Given the description of an element on the screen output the (x, y) to click on. 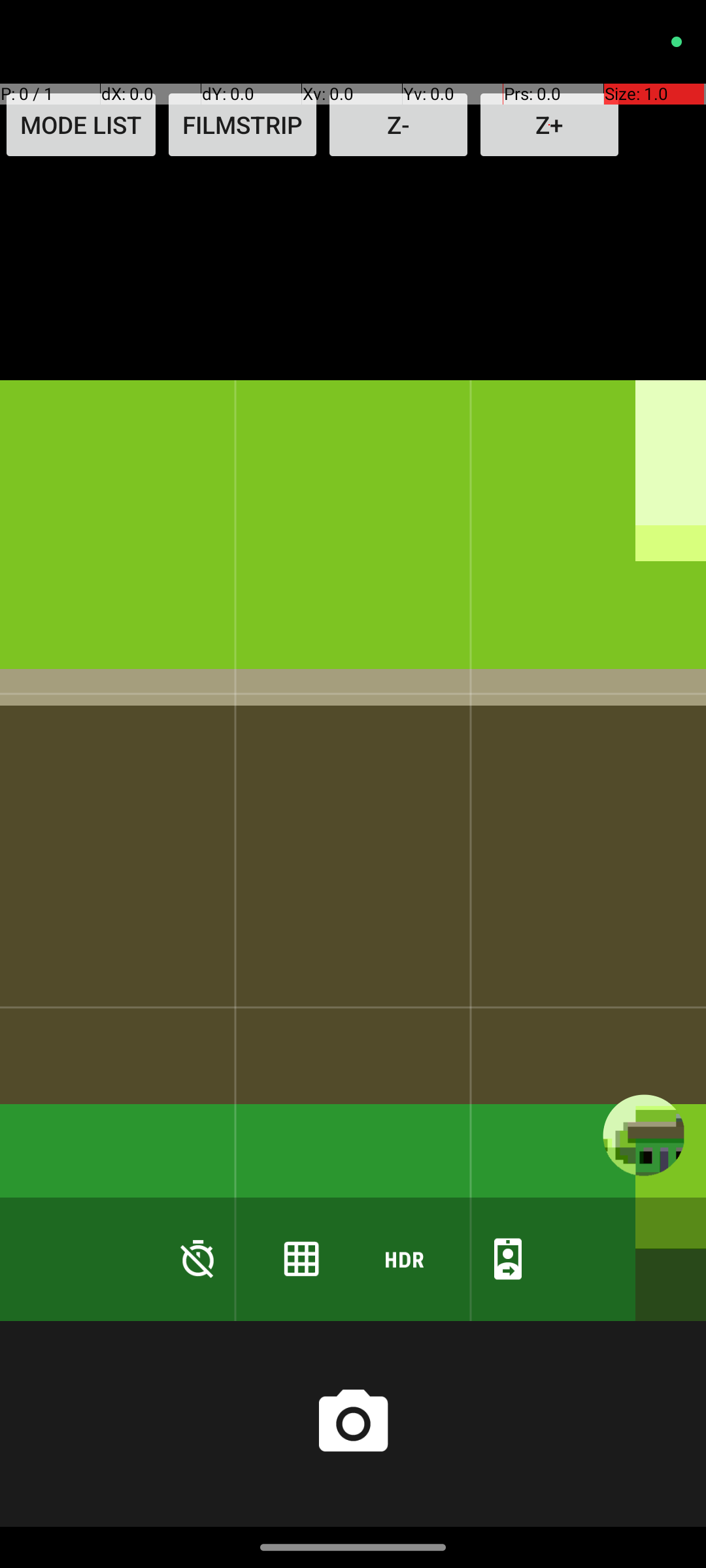
Countdown timer is off Element type: android.widget.ImageButton (197, 1258)
Grid lines on Element type: android.widget.ImageButton (301, 1258)
HDR on Element type: android.widget.ImageButton (404, 1258)
Front camera Element type: android.widget.ImageButton (507, 1258)
